Given the description of an element on the screen output the (x, y) to click on. 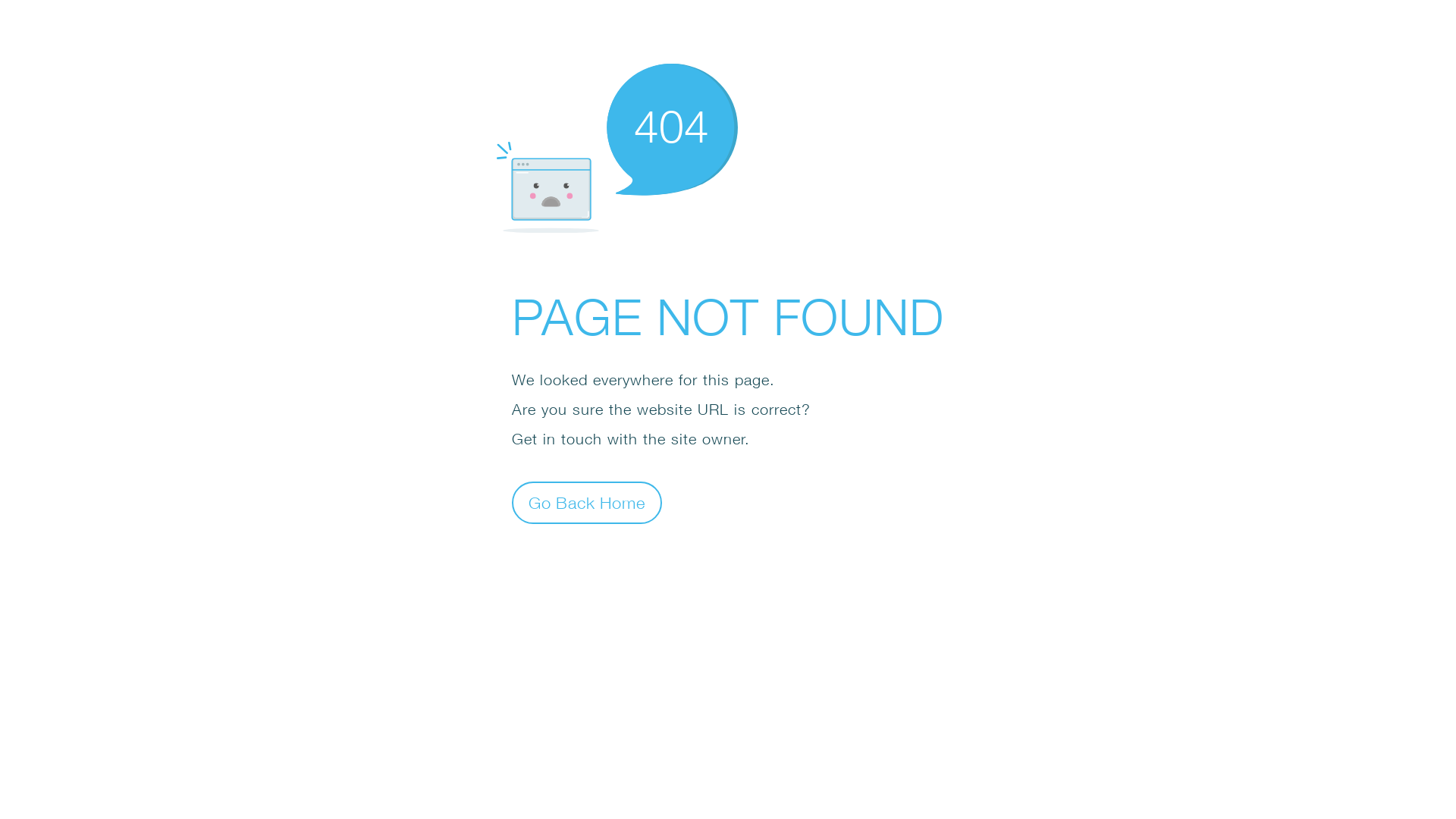
Go Back Home Element type: text (586, 502)
